Given the description of an element on the screen output the (x, y) to click on. 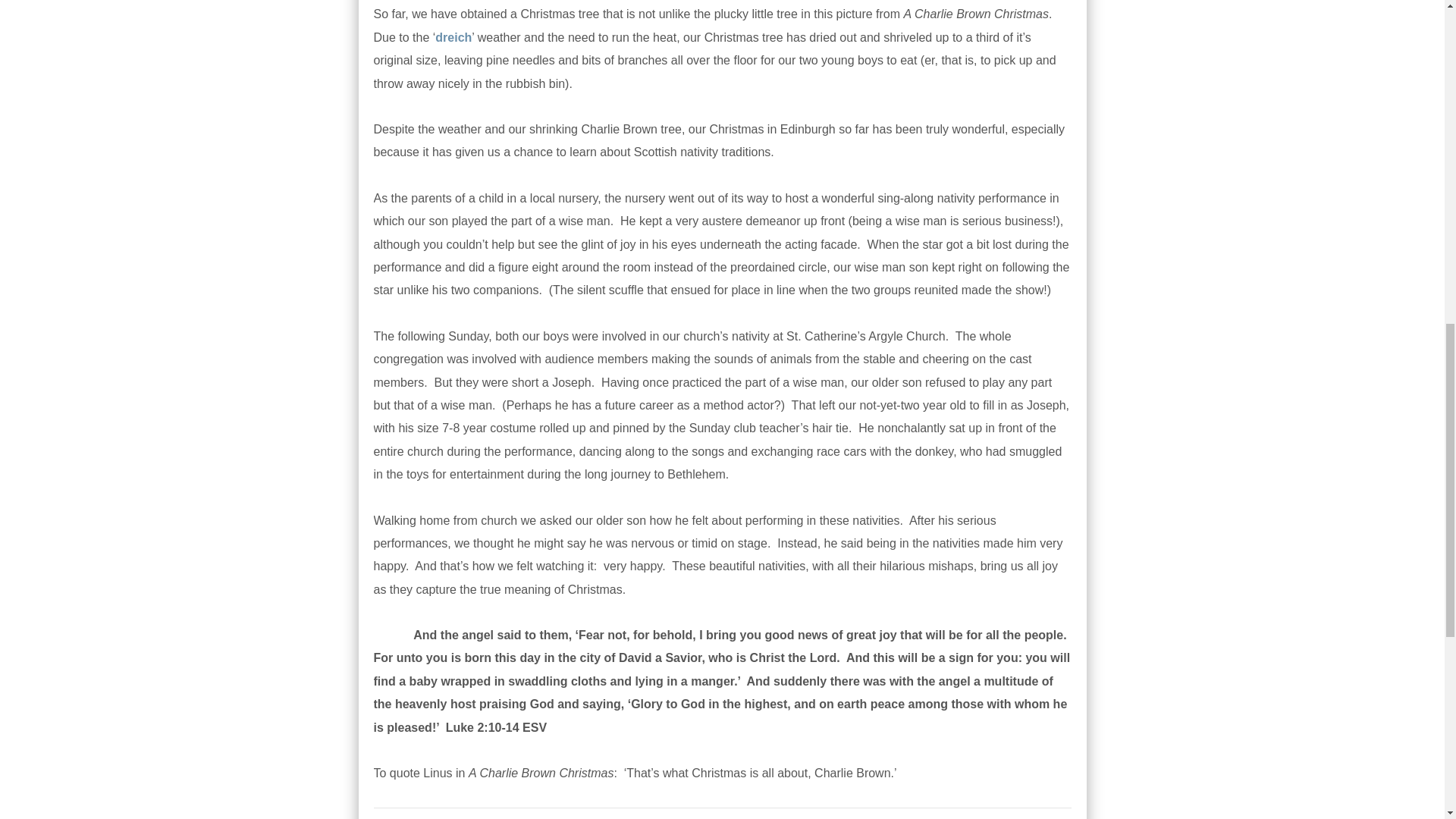
dreich (453, 37)
